Given the description of an element on the screen output the (x, y) to click on. 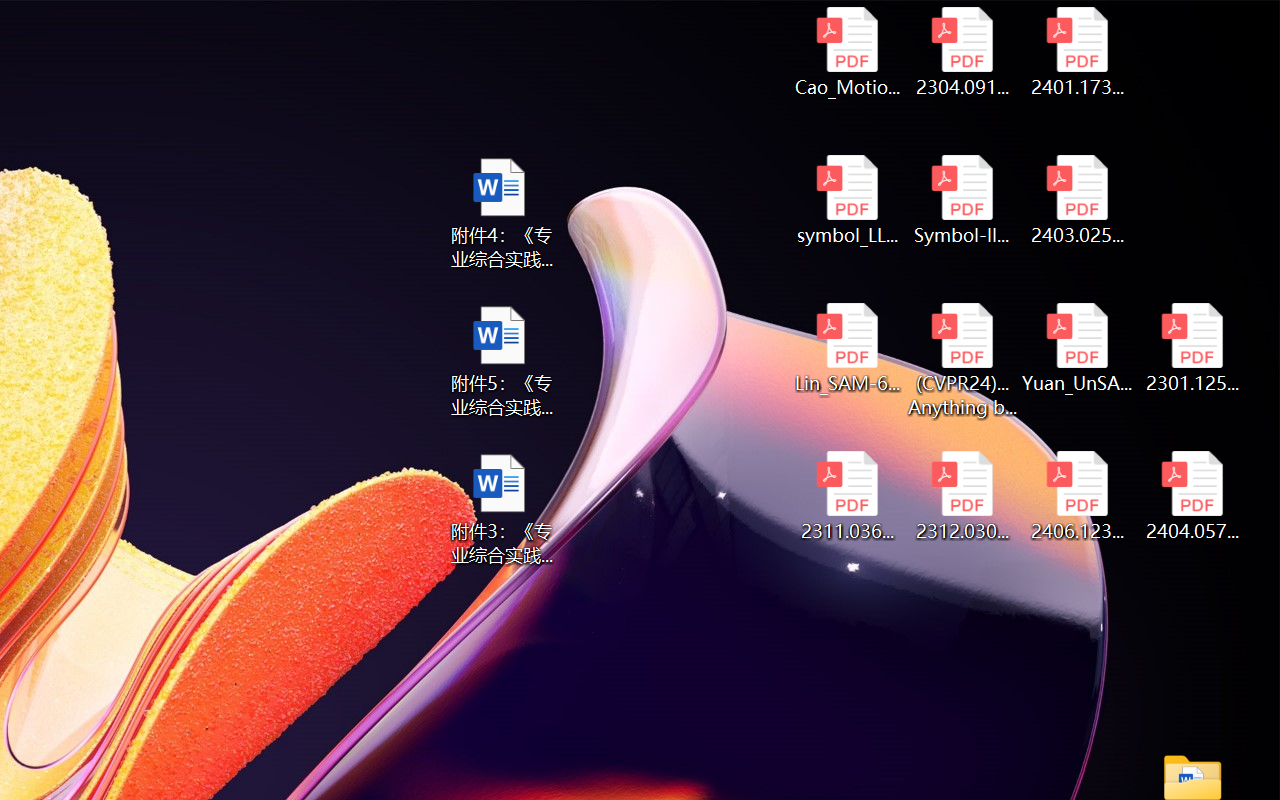
2311.03658v2.pdf (846, 496)
2403.02502v1.pdf (1077, 200)
2401.17399v1.pdf (1077, 52)
2312.03032v2.pdf (962, 496)
2301.12597v3.pdf (1192, 348)
2406.12373v2.pdf (1077, 496)
(CVPR24)Matching Anything by Segmenting Anything.pdf (962, 360)
symbol_LLM.pdf (846, 200)
2404.05719v1.pdf (1192, 496)
Symbol-llm-v2.pdf (962, 200)
